Given the description of an element on the screen output the (x, y) to click on. 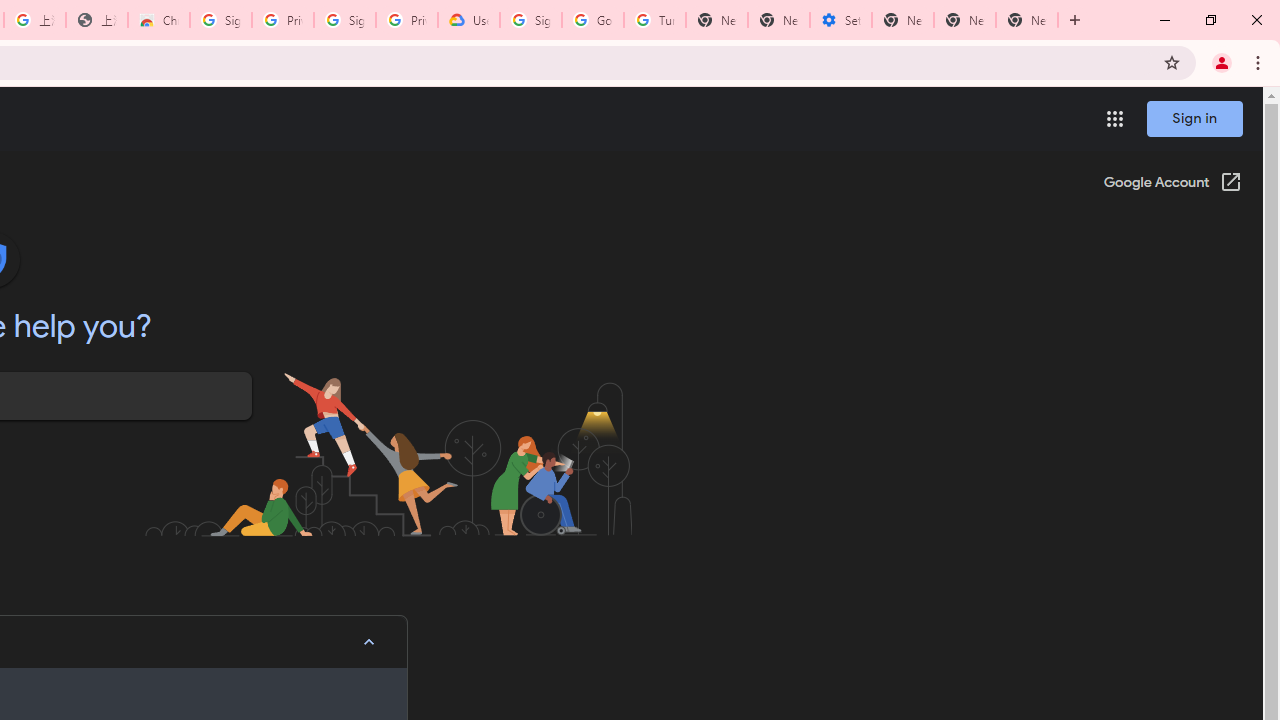
Turn cookies on or off - Computer - Google Account Help (654, 20)
Google Account (Open in a new window) (1172, 183)
Google Account Help (592, 20)
Chrome Web Store - Color themes by Chrome (158, 20)
